Given the description of an element on the screen output the (x, y) to click on. 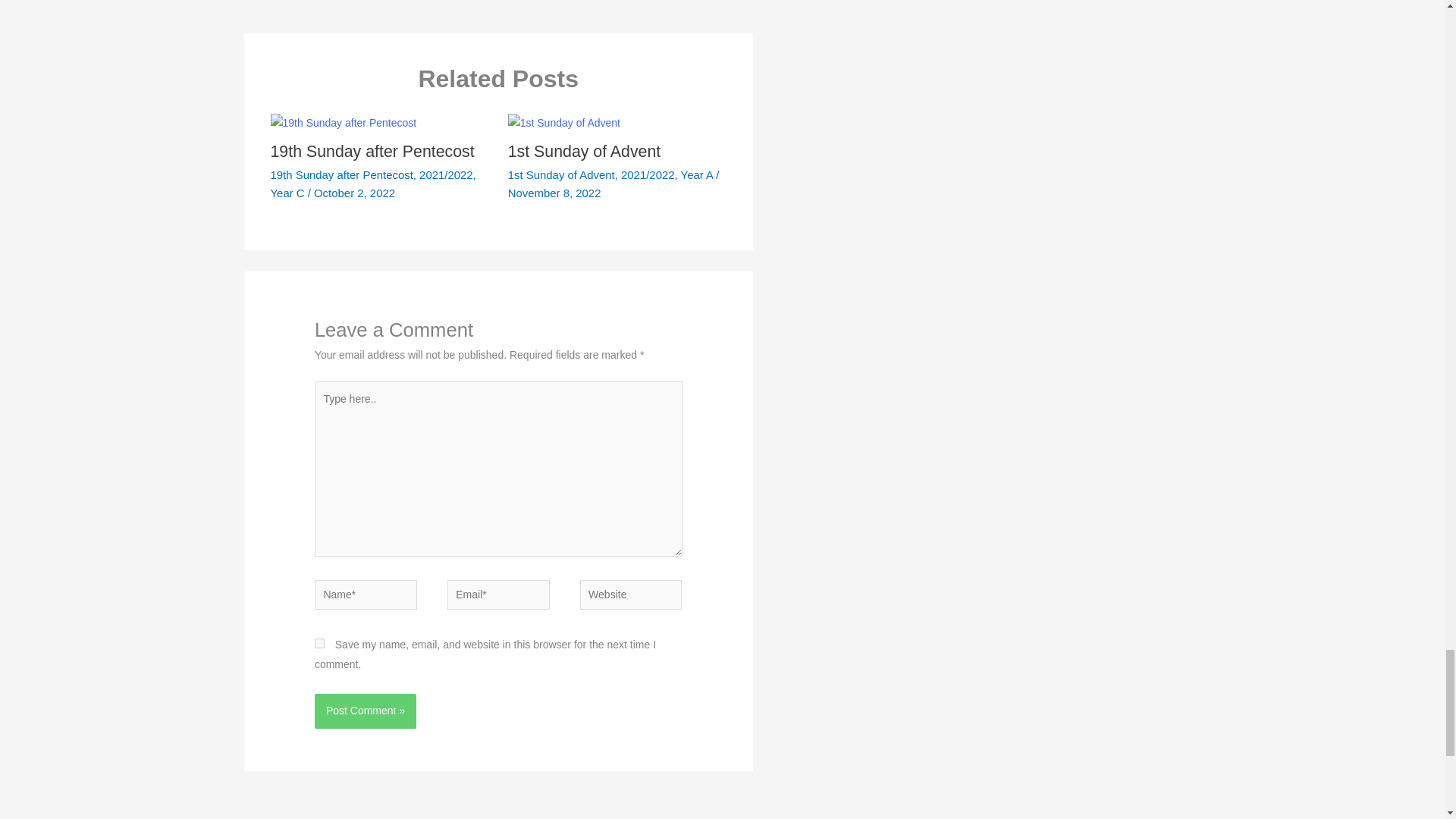
19th Sunday after Pentecost (340, 174)
yes (319, 643)
1st Sunday of Advent (584, 151)
20th Sunday after Pentecost (716, 4)
13th Sunday after Pentecost (291, 4)
1st Sunday of Advent (561, 174)
19th Sunday after Pentecost (371, 151)
Year A (697, 174)
Year C (286, 192)
